Given the description of an element on the screen output the (x, y) to click on. 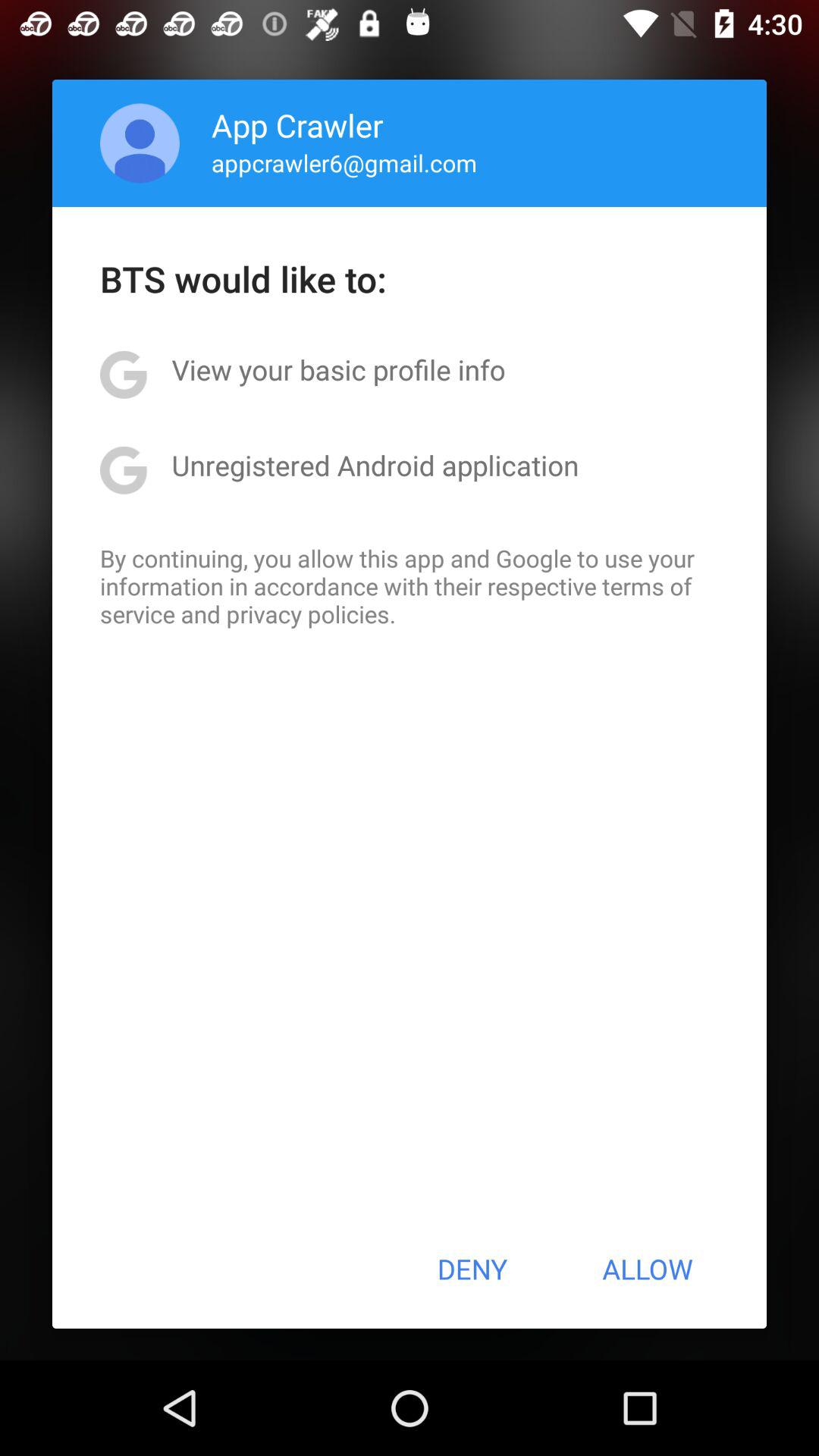
swipe until the view your basic app (338, 369)
